Given the description of an element on the screen output the (x, y) to click on. 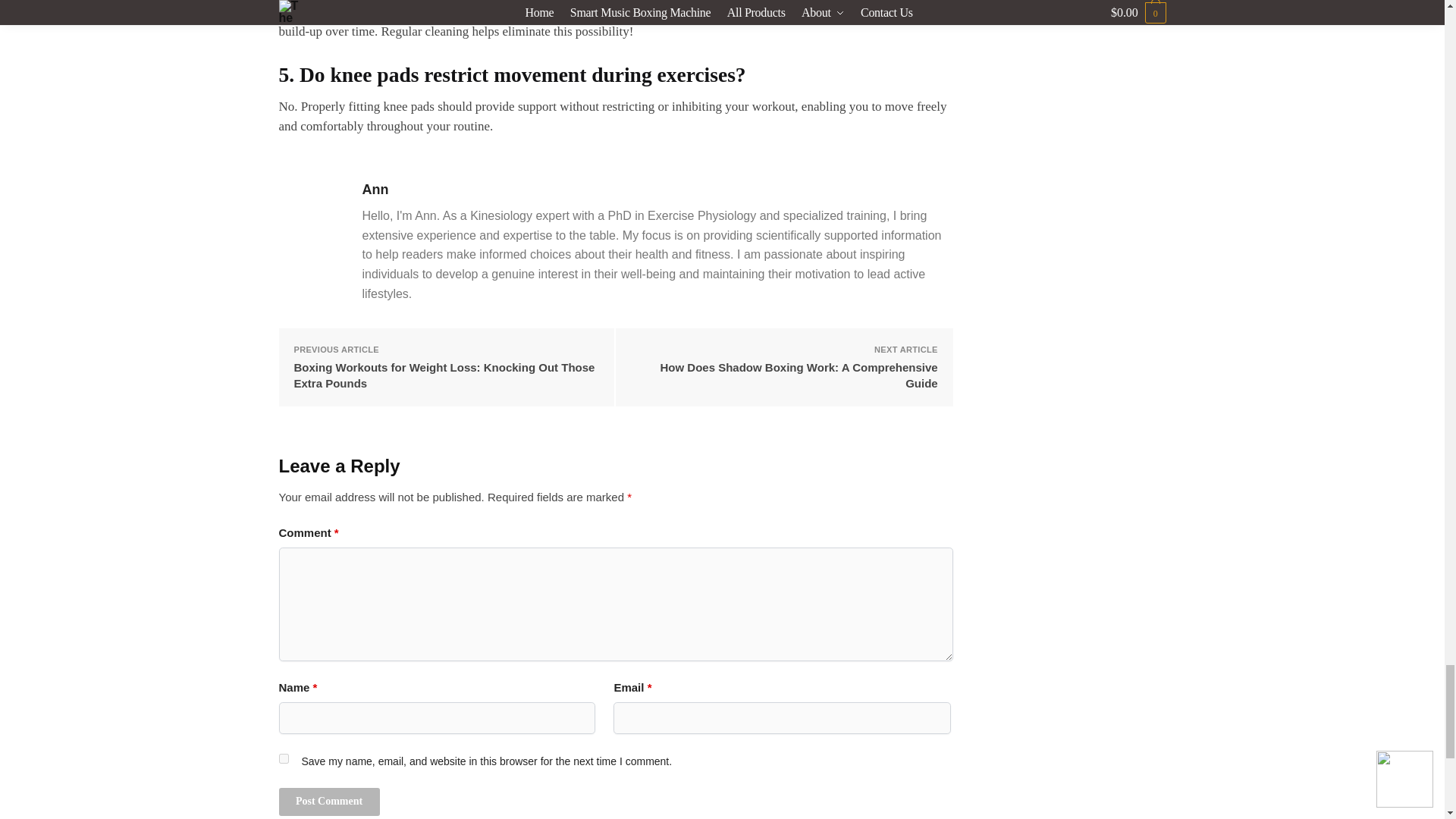
Post Comment (329, 801)
Post Comment (329, 801)
yes (283, 758)
How Does Shadow Boxing Work: A Comprehensive Guide (783, 375)
Ann (657, 189)
